Given the description of an element on the screen output the (x, y) to click on. 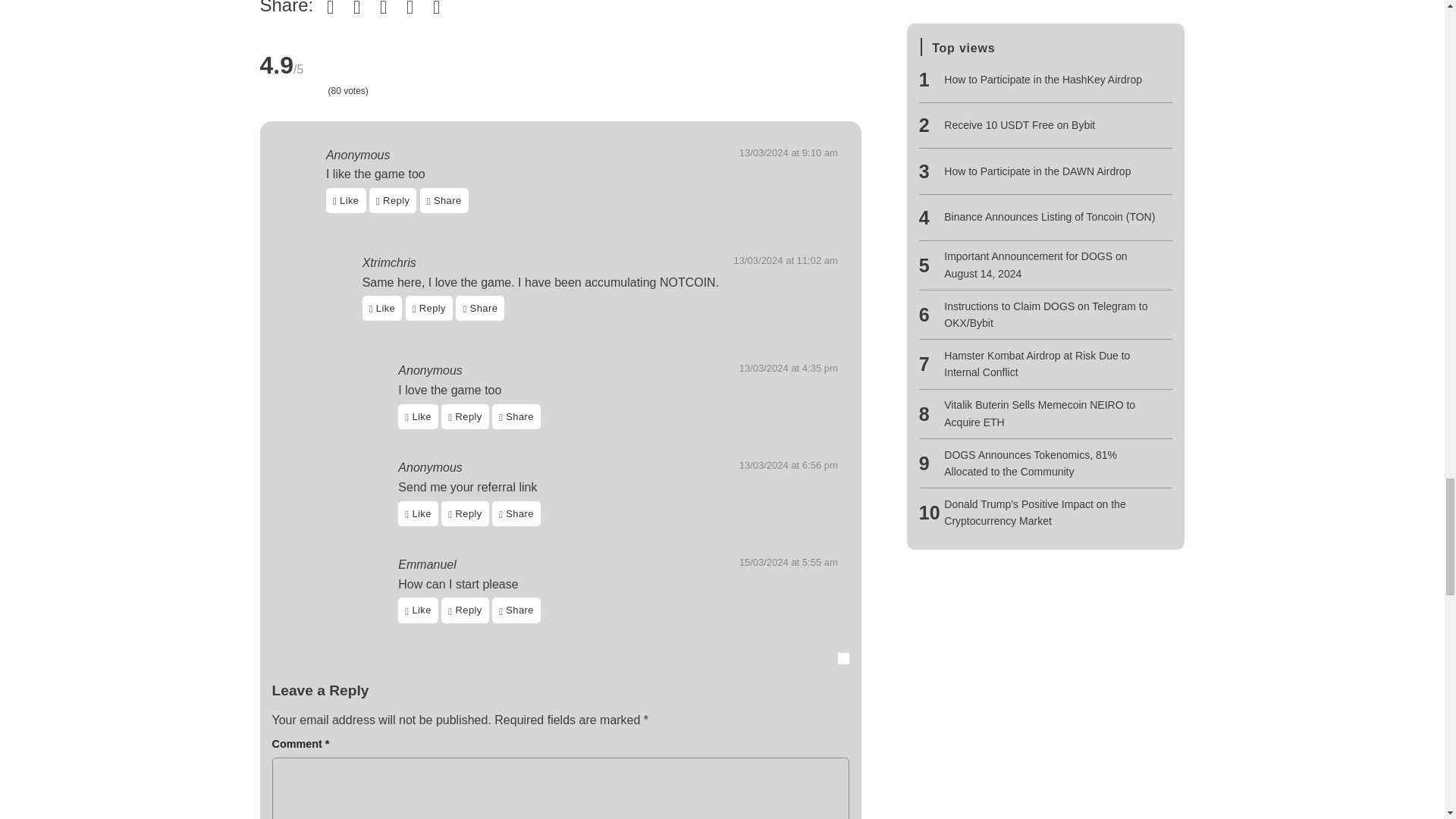
Reply (395, 200)
Like (346, 200)
Share (444, 200)
Reply (392, 200)
